Given the description of an element on the screen output the (x, y) to click on. 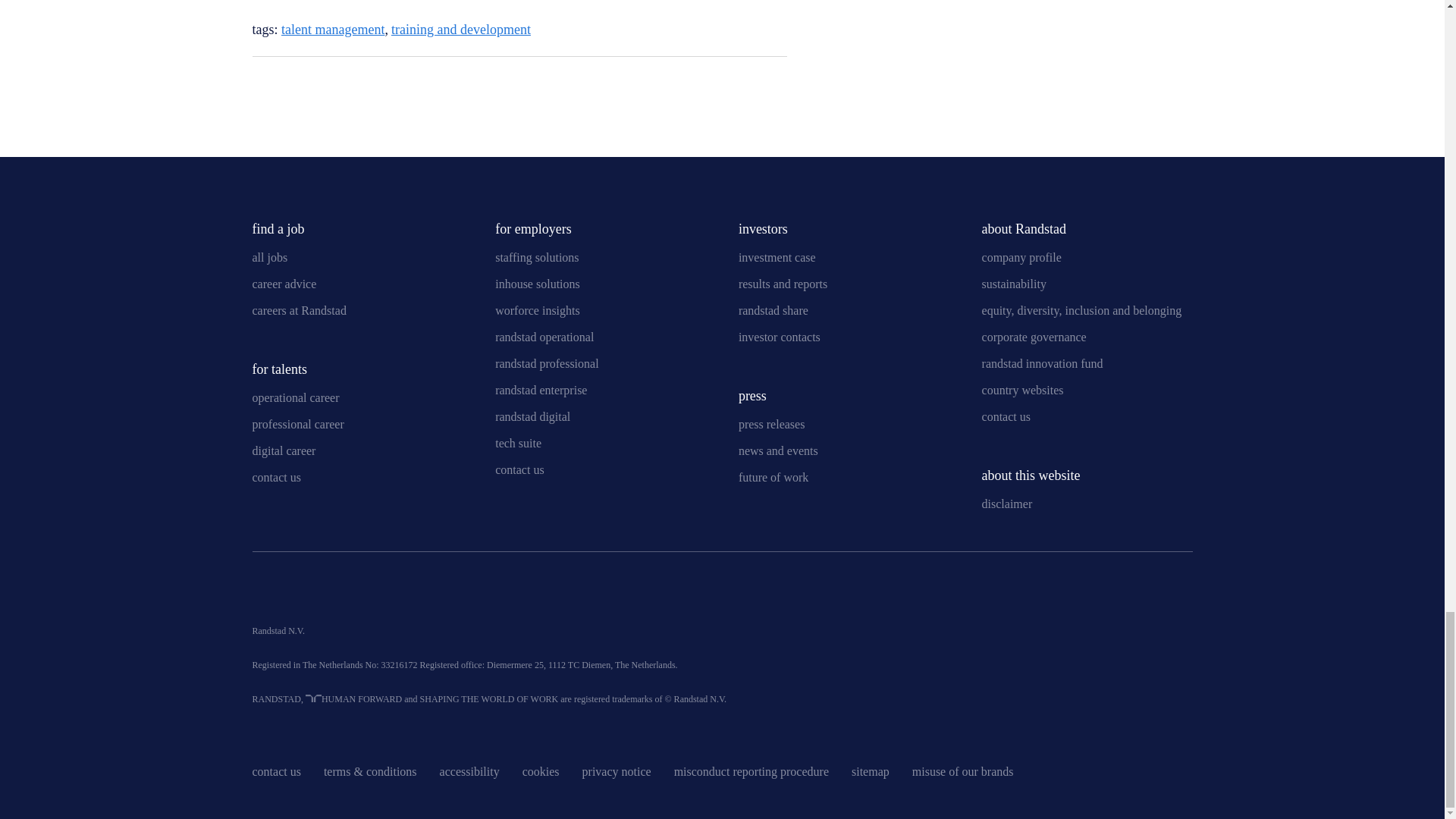
linkedin (263, 593)
print this article (289, 87)
share this article on linkedin (695, 84)
youtube (301, 593)
share this article on twitter (735, 84)
email this article (258, 87)
share this article on facebook (774, 84)
